Given the description of an element on the screen output the (x, y) to click on. 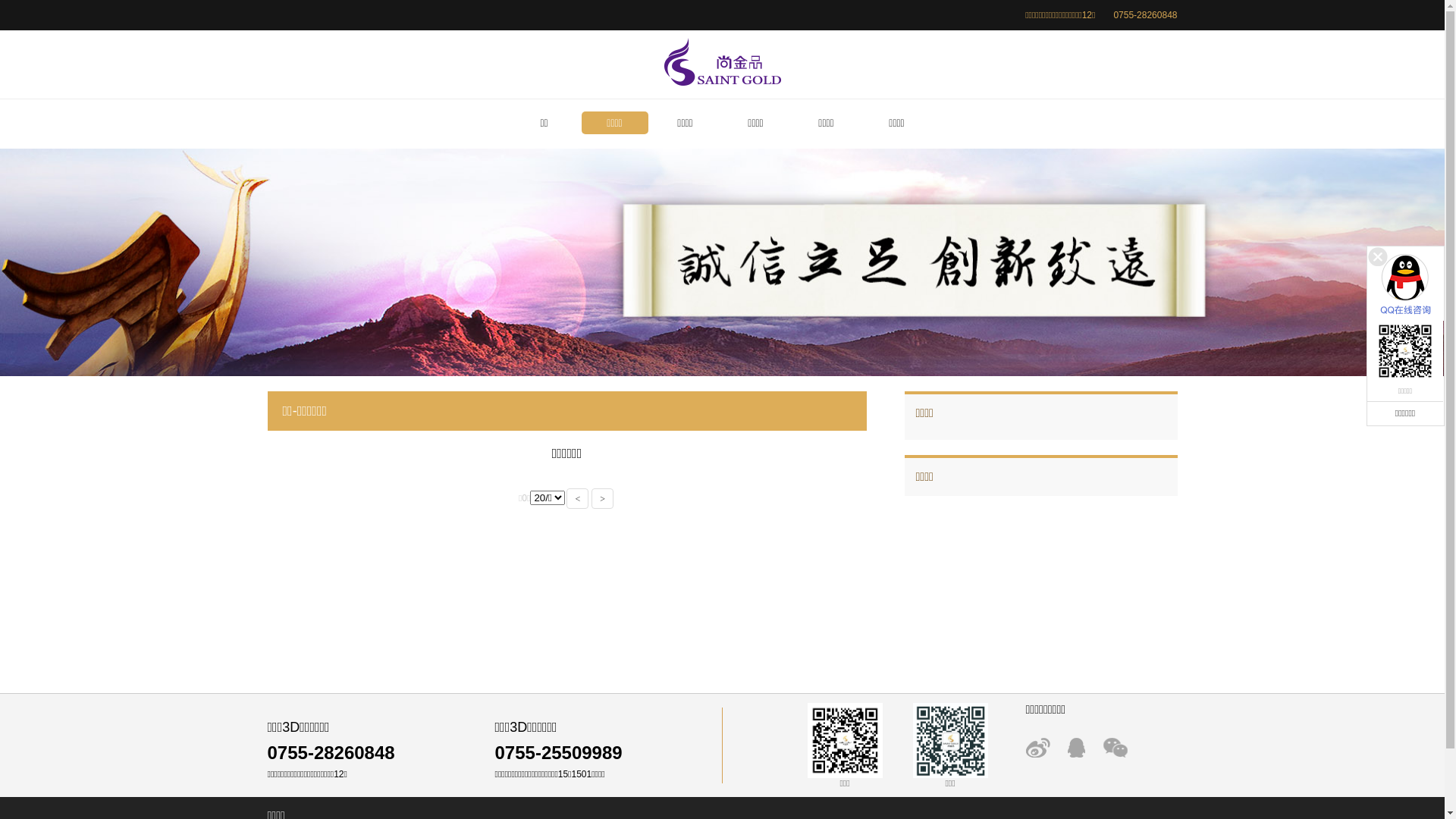
> Element type: text (602, 498)
< Element type: text (577, 498)
